Given the description of an element on the screen output the (x, y) to click on. 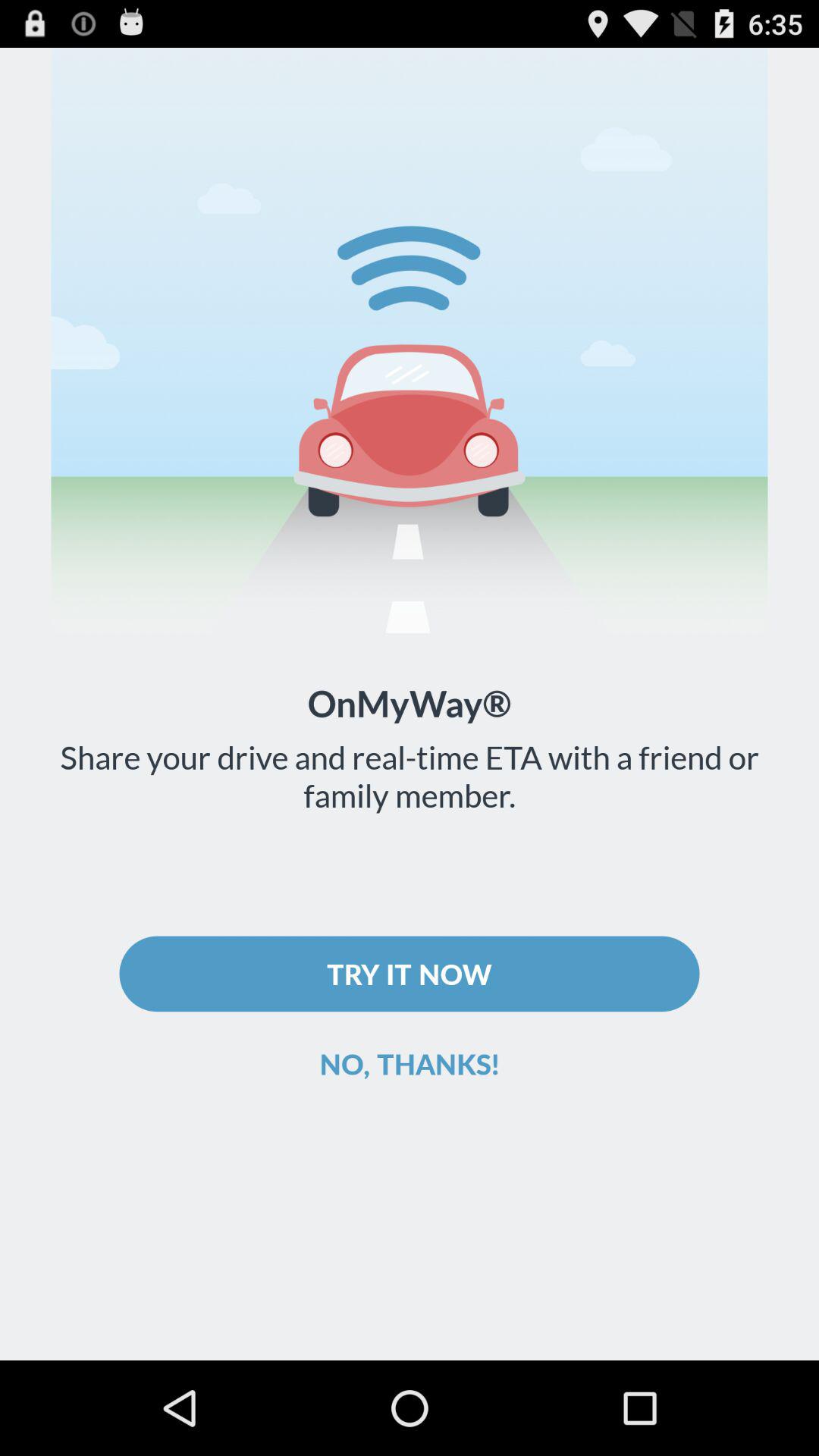
jump to try it now icon (409, 973)
